Given the description of an element on the screen output the (x, y) to click on. 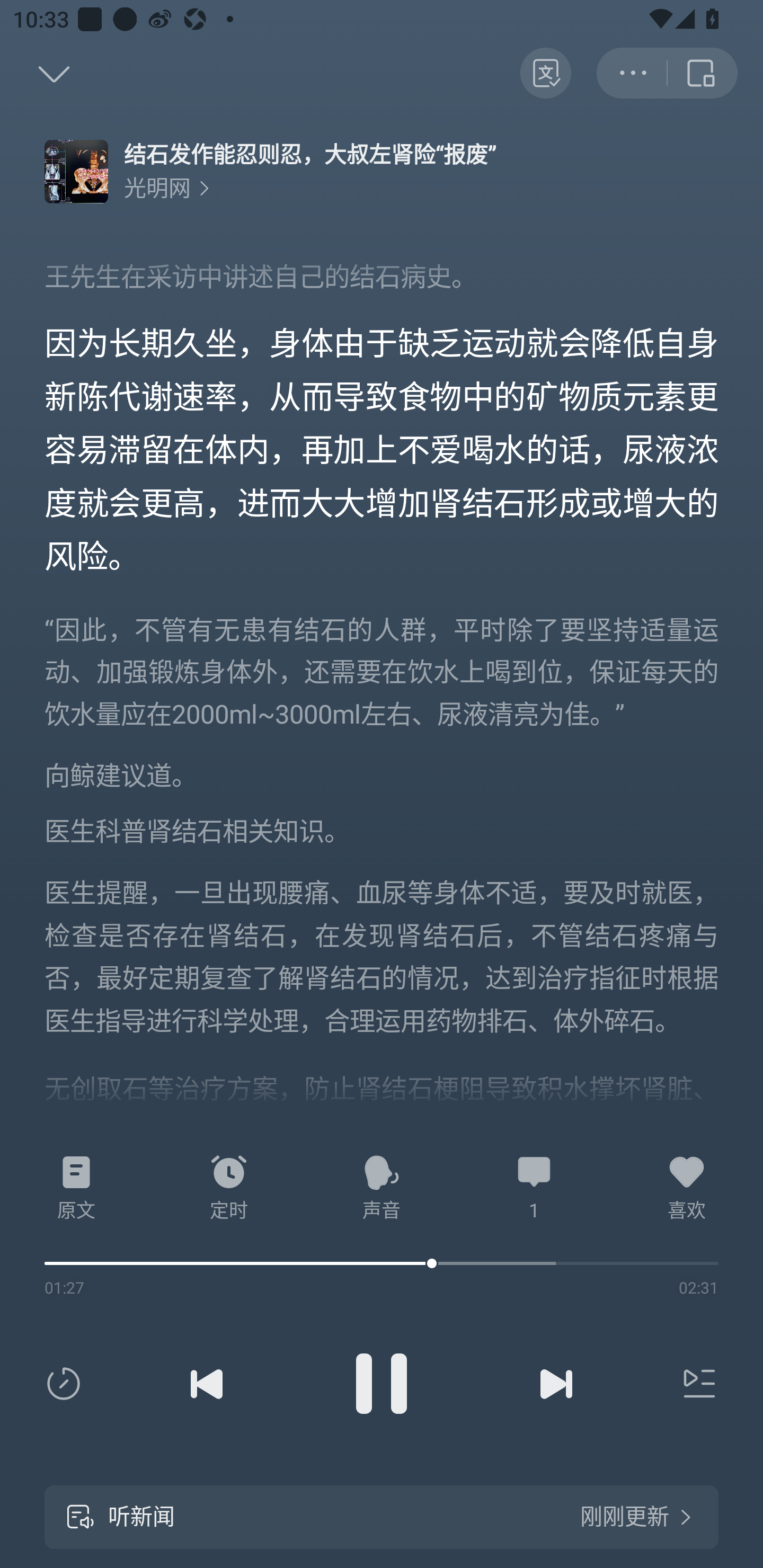
返回 (35, 72)
更多 (631, 72)
返回 (702, 72)
光明网 (166, 187)
原文 (76, 1188)
定时，按钮 定时 (228, 1188)
声音，音色按钮 声音 (381, 1188)
1条评论，按钮 1 (533, 1188)
喜欢，按钮 喜欢 (686, 1188)
暂停 (381, 1383)
倍速，按钮 (67, 1383)
列表，按钮 (695, 1383)
听新闻 刚刚更新 (381, 1516)
